Given the description of an element on the screen output the (x, y) to click on. 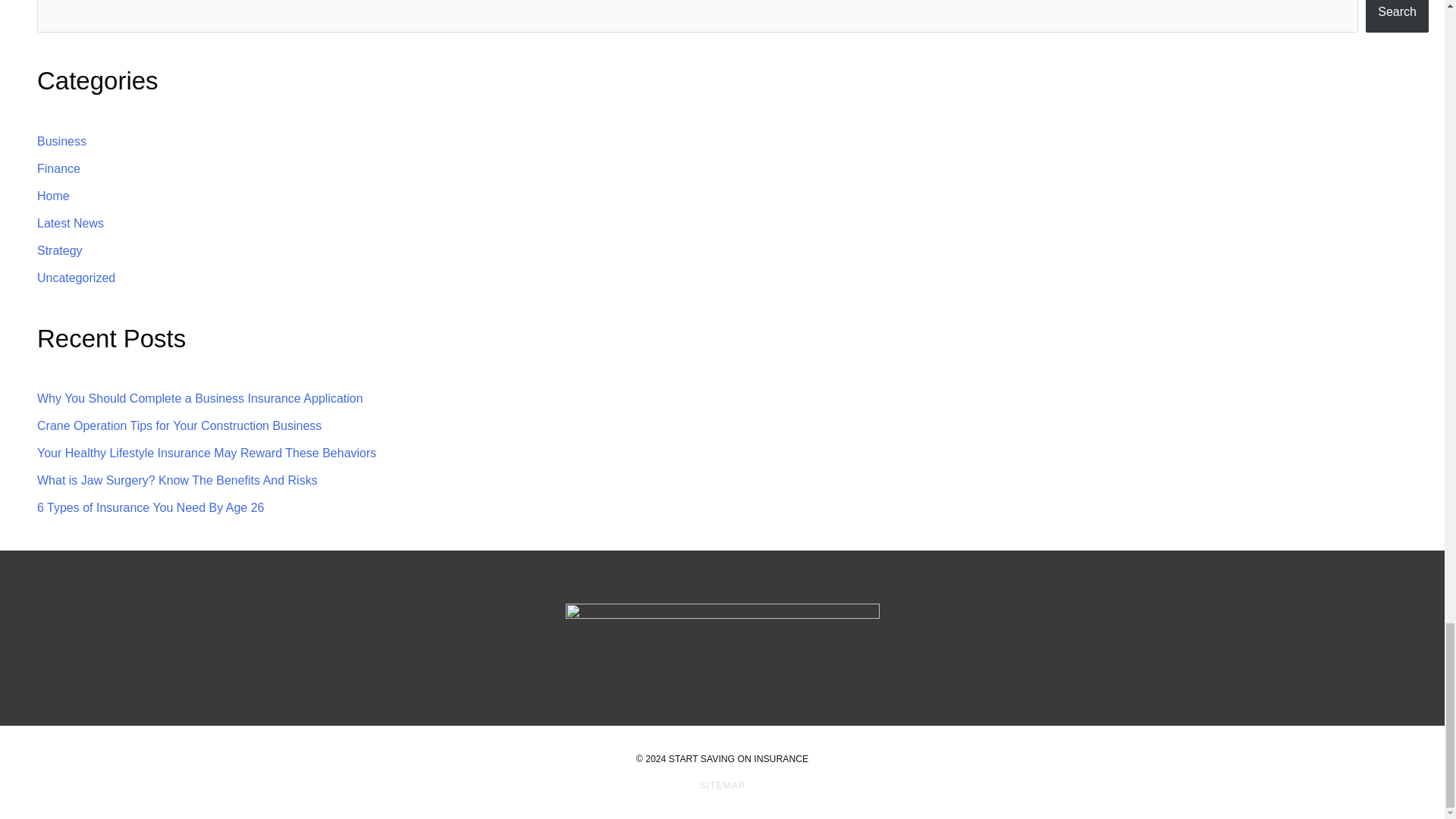
SITEMAP (721, 785)
Finance (58, 168)
Business (61, 141)
Latest News (70, 223)
Crane Operation Tips for Your Construction Business (179, 425)
Uncategorized (76, 277)
6 Types of Insurance You Need By Age 26 (150, 507)
Why You Should Complete a Business Insurance Application (199, 398)
Search (1396, 16)
What is Jaw Surgery? Know The Benefits And Risks (177, 480)
